Given the description of an element on the screen output the (x, y) to click on. 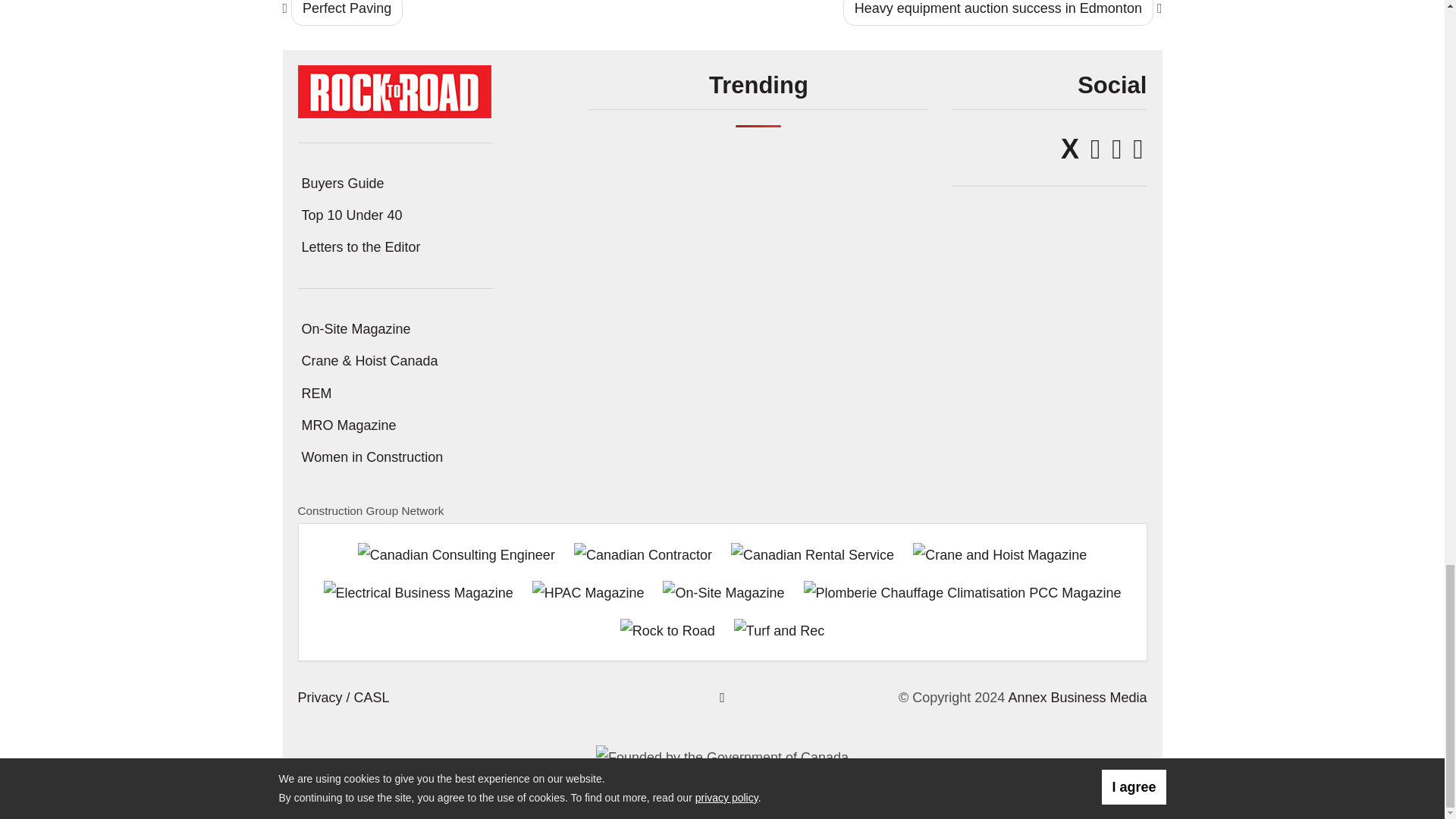
Rock to Road (393, 89)
Annex Business Media (1077, 697)
